Given the description of an element on the screen output the (x, y) to click on. 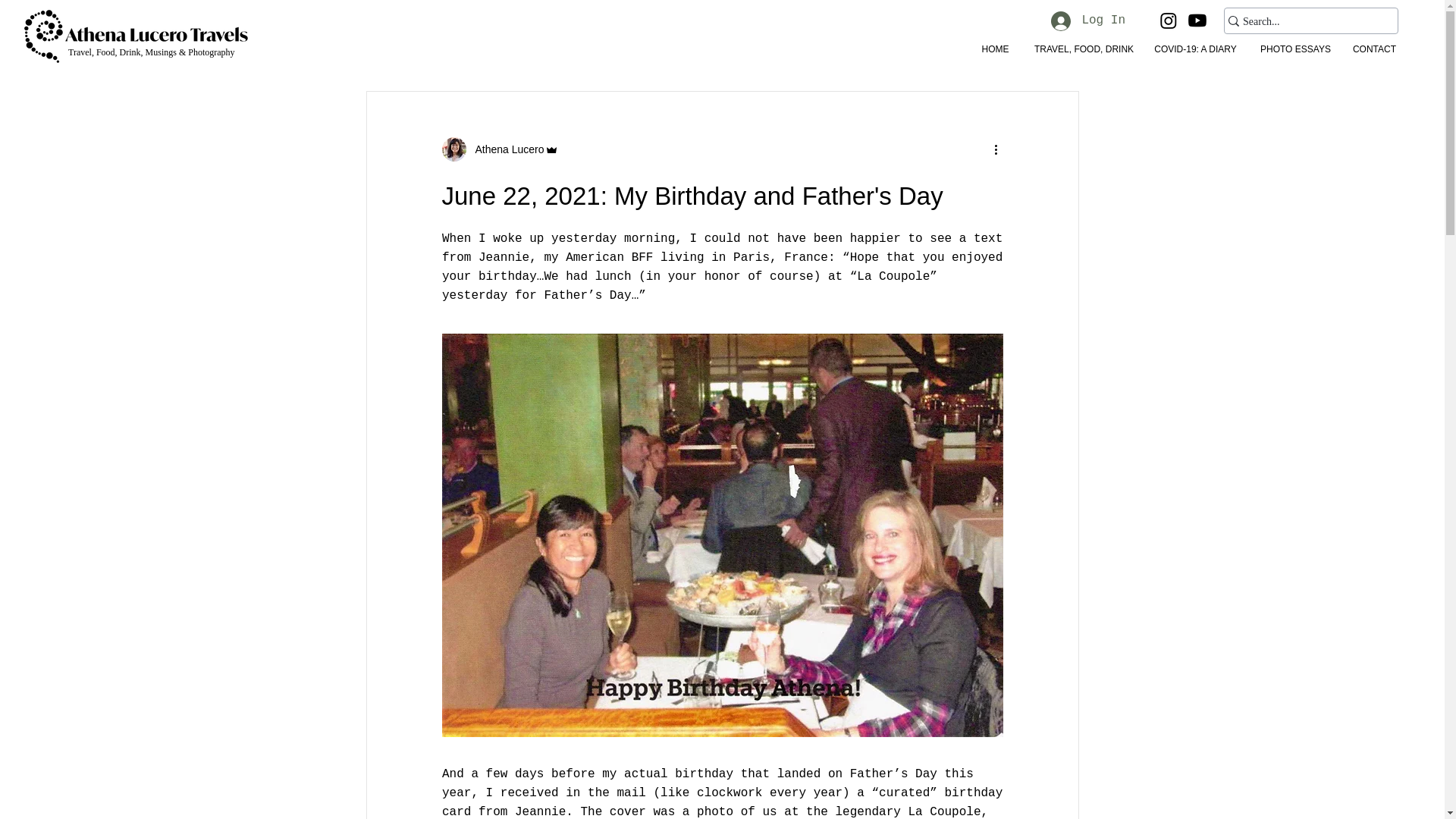
HOME (995, 49)
CONTACT (1373, 49)
COVID-19: A DIARY (1194, 49)
Athena Lucero (499, 149)
Athena Lucero (504, 148)
Log In (1088, 20)
TRAVEL, FOOD, DRINK (1081, 49)
PHOTO ESSAYS (1293, 49)
